Given the description of an element on the screen output the (x, y) to click on. 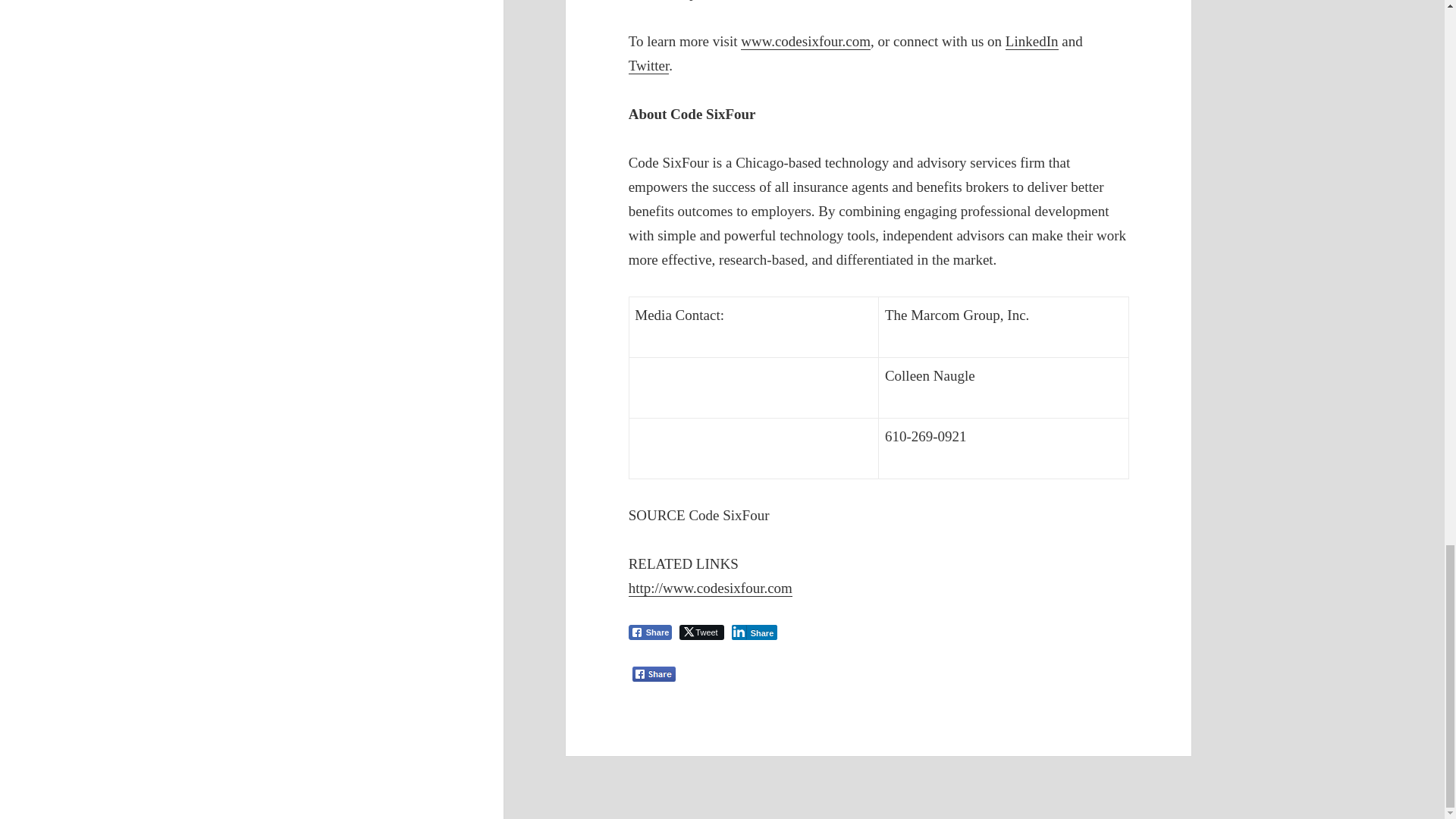
Twitter (648, 65)
Share (650, 631)
www.codesixfour.com (805, 41)
Share (754, 631)
LinkedIn (1032, 41)
Tweet (701, 631)
